Given the description of an element on the screen output the (x, y) to click on. 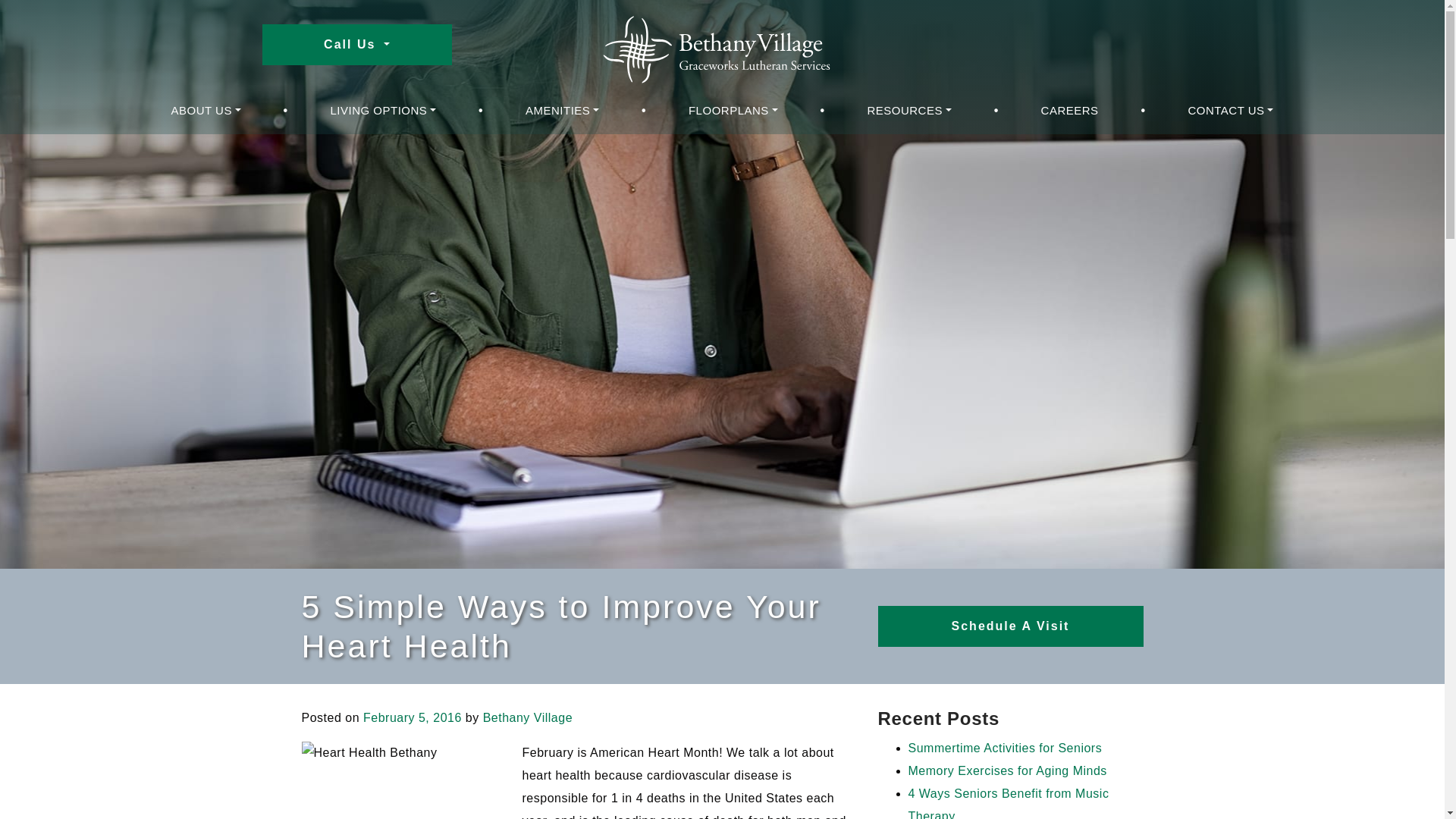
FLOORPLANS (733, 110)
AMENITIES (562, 110)
About Us (206, 110)
RESOURCES (908, 110)
LIVING OPTIONS (383, 110)
CONTACT US (1229, 110)
CAREERS (1070, 110)
Amenities (562, 110)
Living Options (383, 110)
ABOUT US (206, 110)
